Given the description of an element on the screen output the (x, y) to click on. 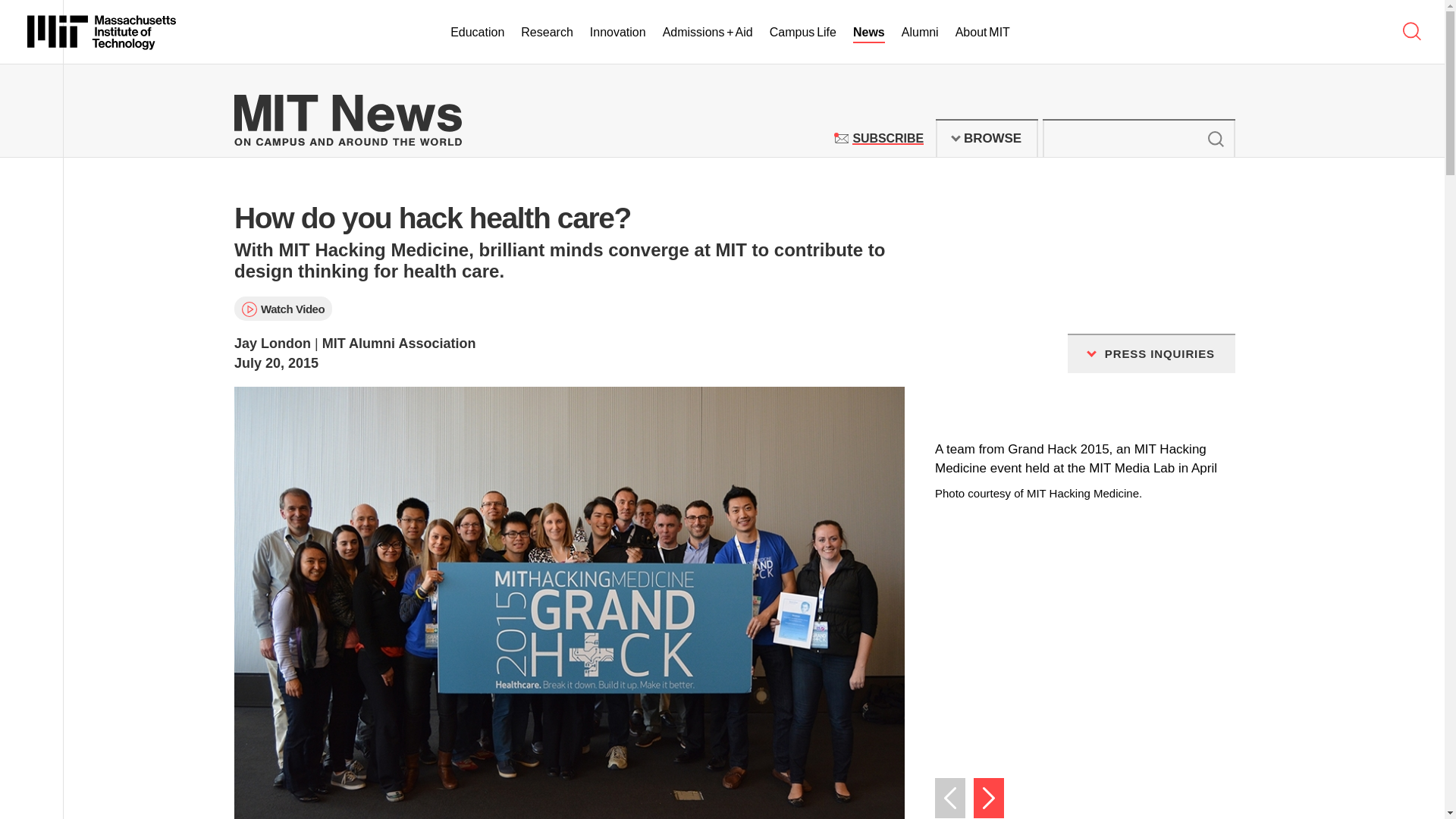
Massachusetts Institute of Technology (101, 32)
Submit (1214, 138)
BROWSE (887, 137)
Campus Life (987, 138)
